Given the description of an element on the screen output the (x, y) to click on. 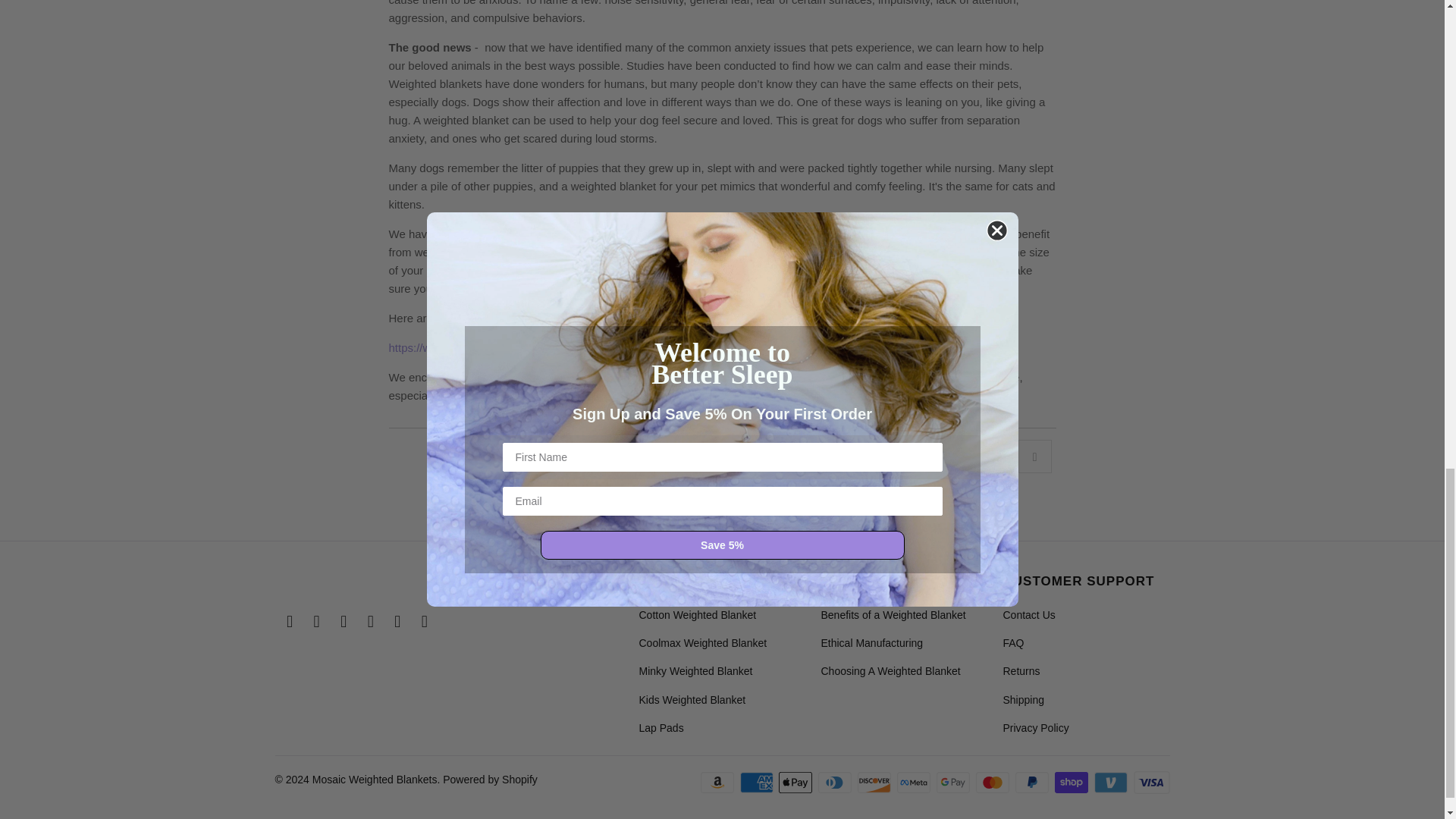
Share this on Pinterest (994, 456)
Google Pay (954, 782)
Diners Club (836, 782)
Mosaic Weighted Blankets on YouTube (344, 621)
Mosaic Weighted Blankets on Twitter (290, 621)
Visa (1150, 782)
PayPal (1032, 782)
Discover (875, 782)
Meta Pay (914, 782)
Shop Pay (1072, 782)
Mosaic Weighted Blankets on Pinterest (370, 621)
American Express (757, 782)
Apple Pay (796, 782)
Email this to a friend (1034, 456)
Email Mosaic Weighted Blankets (424, 621)
